Given the description of an element on the screen output the (x, y) to click on. 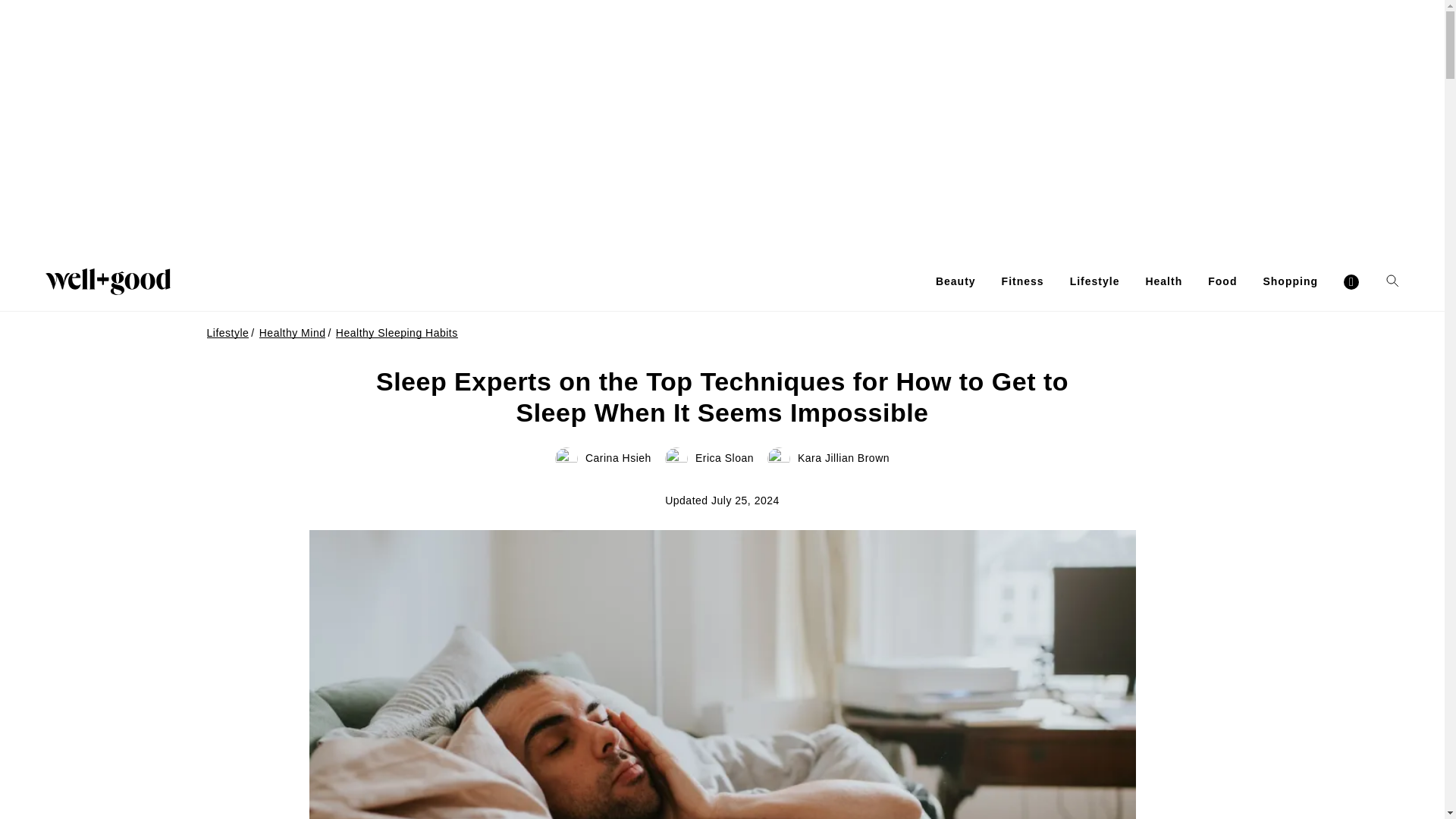
Food (1222, 281)
Health (1163, 281)
Beauty (955, 281)
Fitness (1022, 281)
Shopping (1289, 281)
Lifestyle (1094, 281)
